Given the description of an element on the screen output the (x, y) to click on. 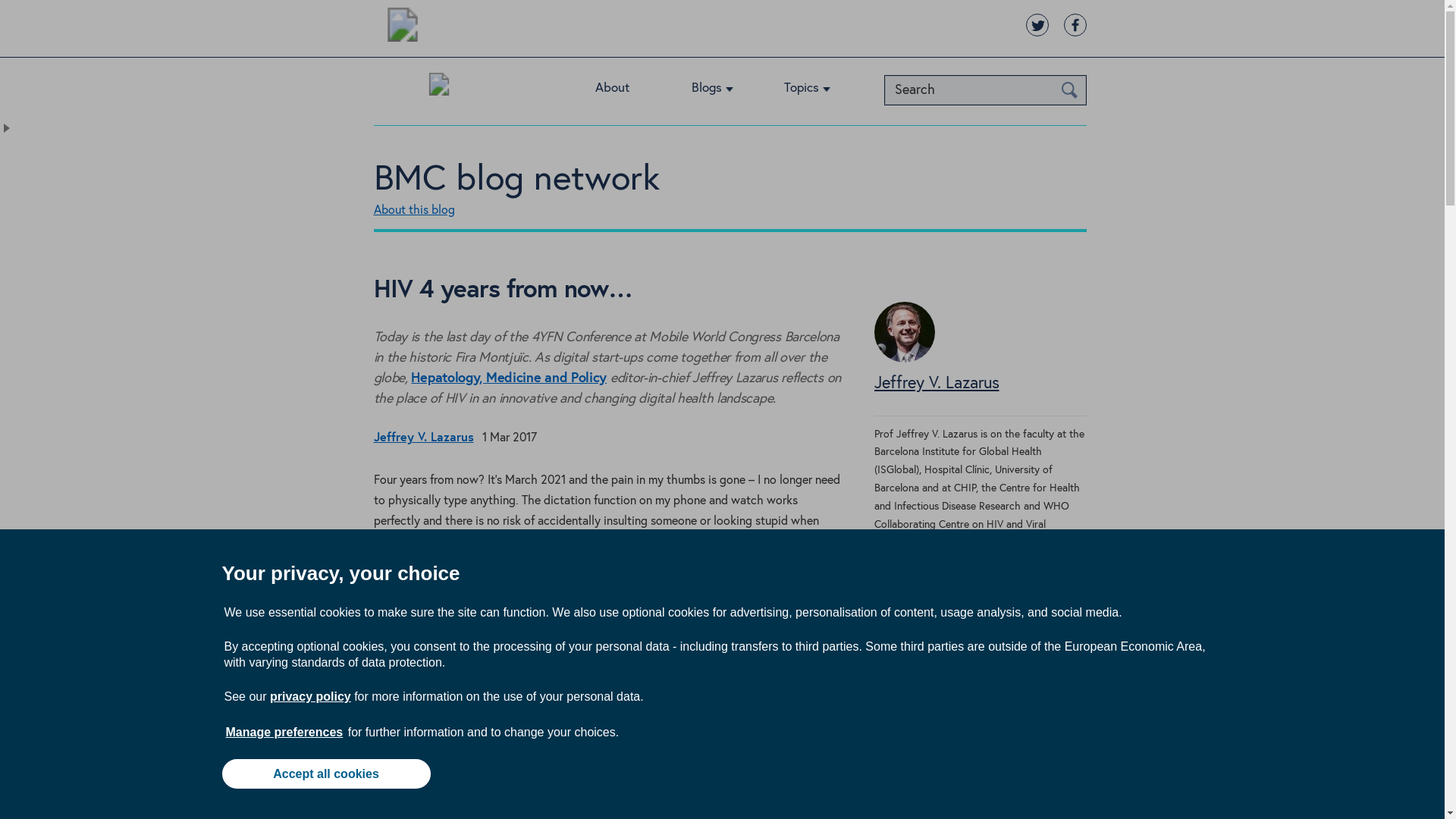
BioMed Central on Twitter (1036, 24)
Accept all cookies (325, 773)
Jeffrey V. Lazarus (903, 358)
privacy policy (309, 696)
BioMed Central on Twitter (1036, 24)
Blogs (724, 91)
Visit BioMed Central (401, 28)
Manage preferences (284, 732)
About (629, 91)
Topics (818, 91)
Visit Blog Network home (437, 87)
BioMed Central on Facebook (1074, 24)
BioMed Central on Facebook (1074, 24)
